Given the description of an element on the screen output the (x, y) to click on. 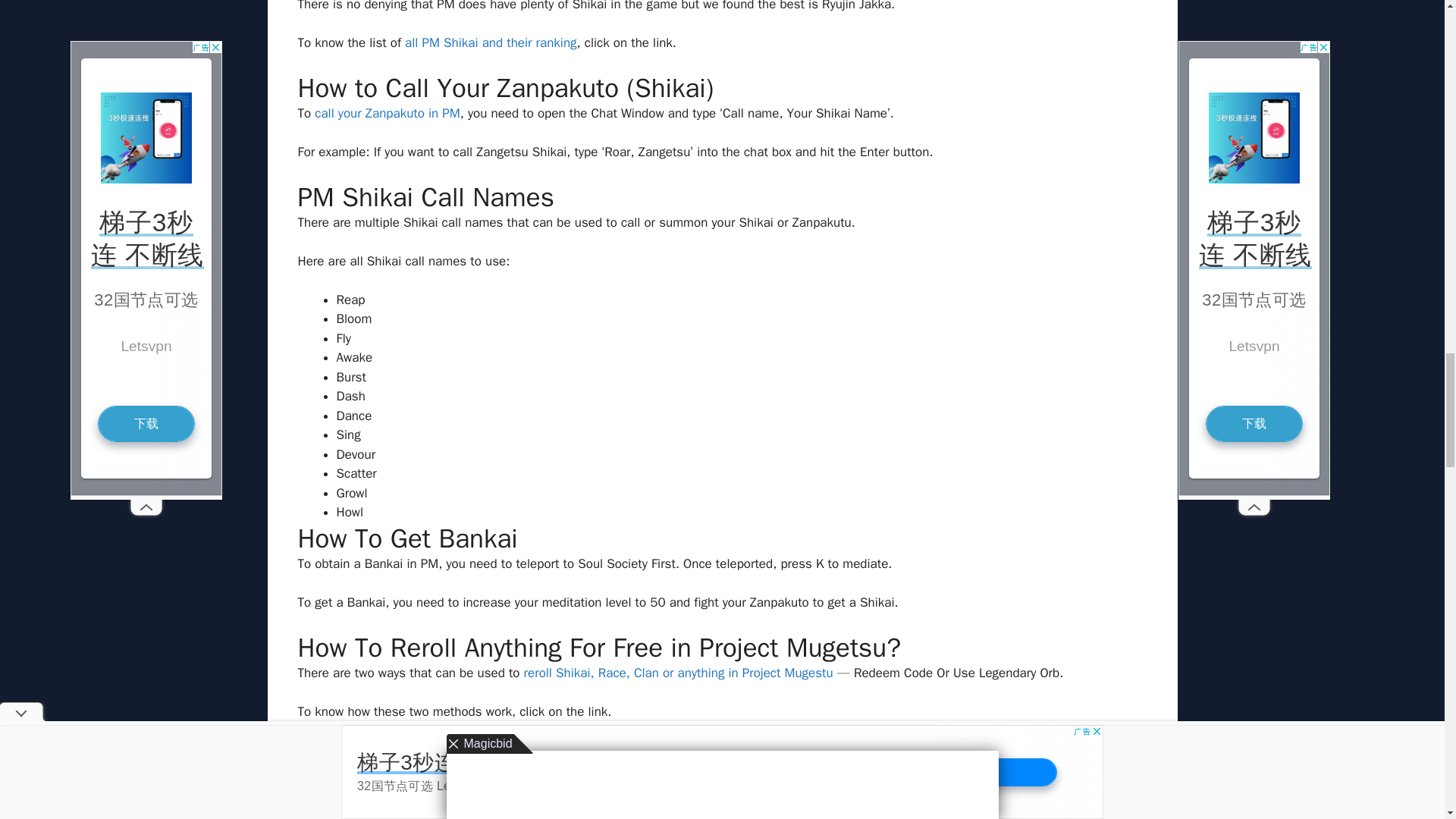
call your Zanpakuto in PM (387, 113)
all PM Shikai and their ranking (490, 42)
reroll Shikai, Race, Clan or anything in Project Mugestu (678, 672)
